Given the description of an element on the screen output the (x, y) to click on. 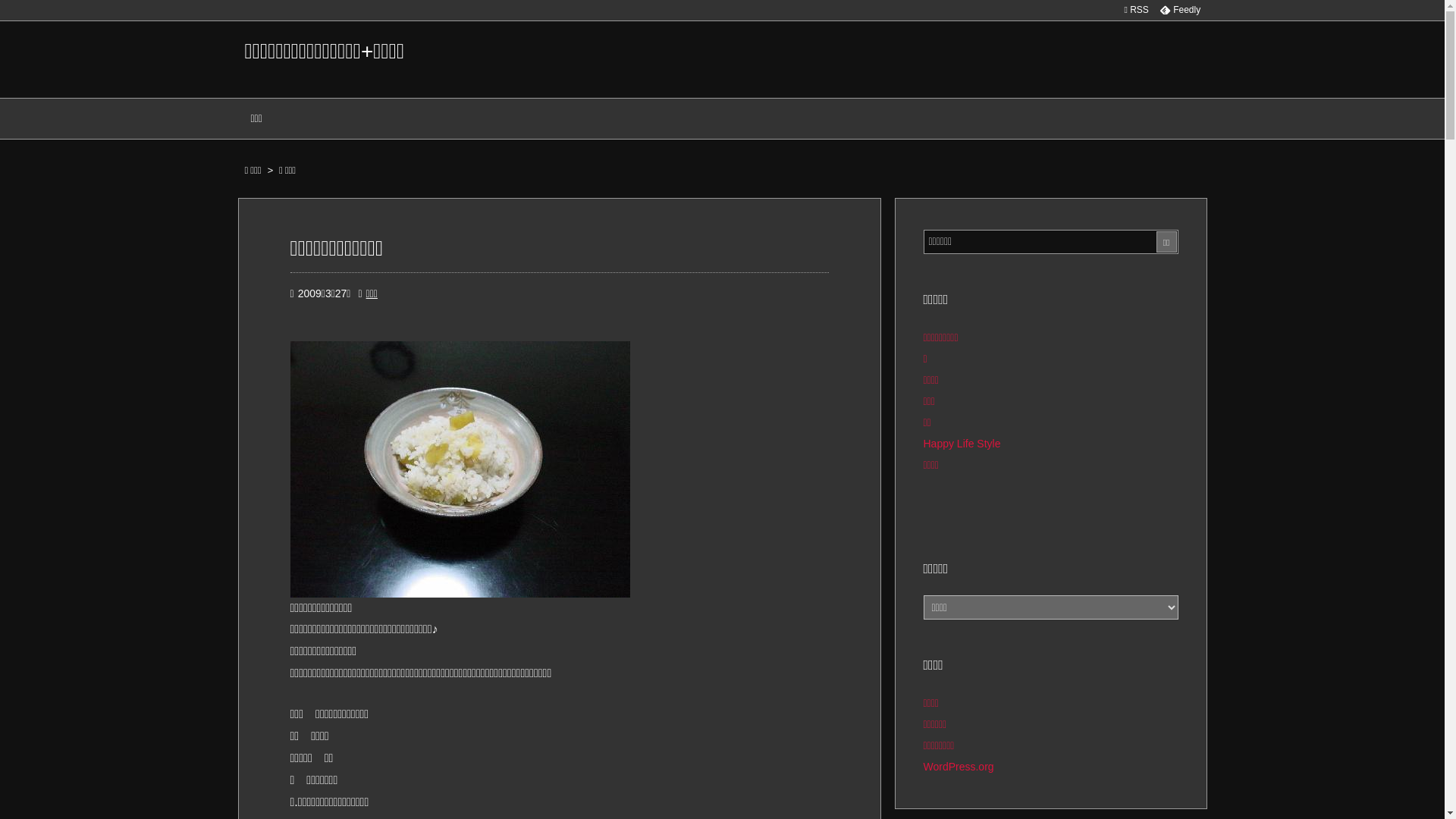
  RSS  Element type: text (1136, 9)
WordPress.org Element type: text (958, 766)
  Feedly  Element type: text (1179, 9)
Happy Life Style Element type: text (962, 443)
